Given the description of an element on the screen output the (x, y) to click on. 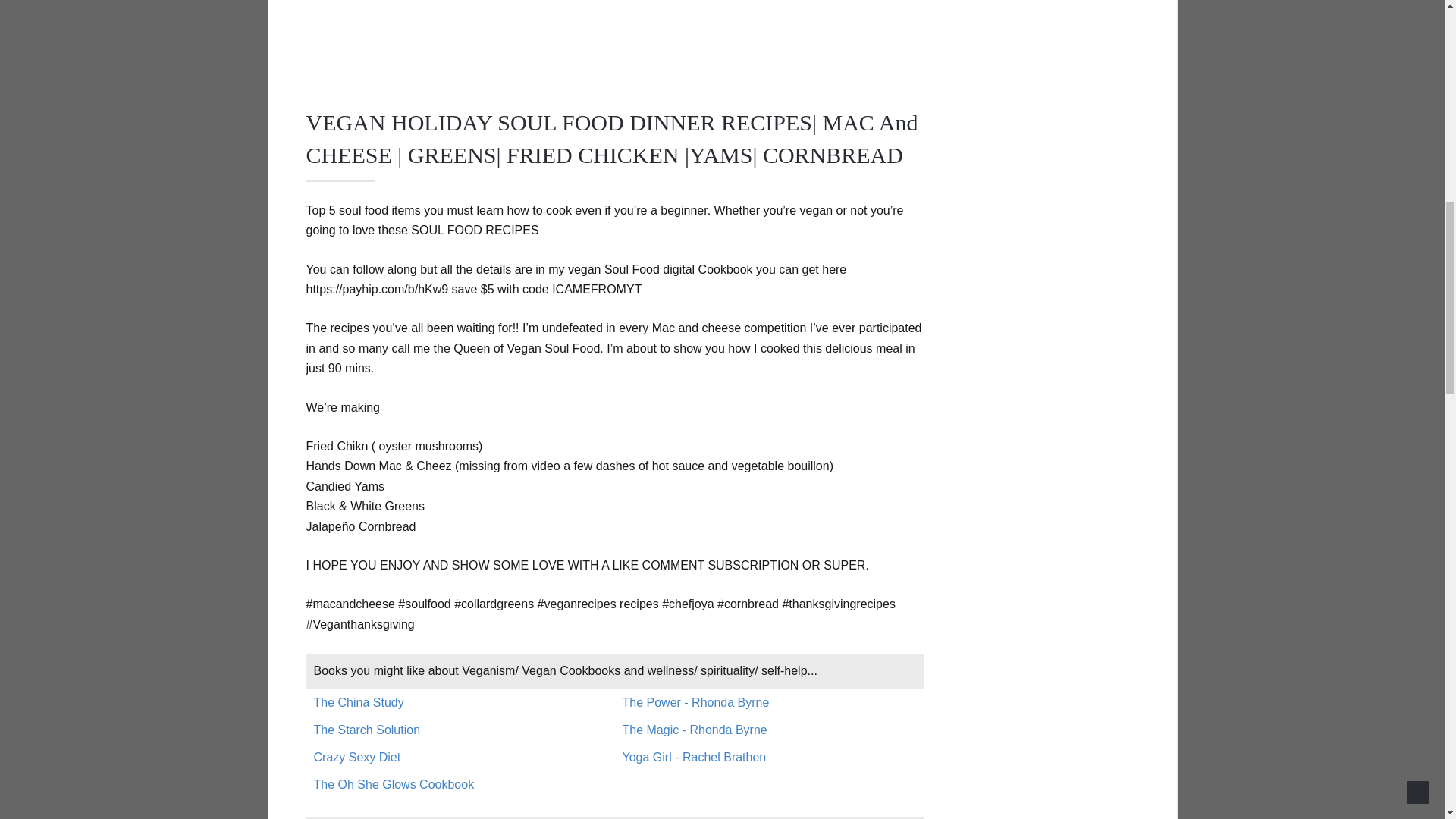
The China Study (359, 702)
The Power - Rhonda Byrne (696, 702)
Yoga Girl - Rachel Brathen (695, 757)
The Magic - Rhonda Byrne (695, 729)
The Oh She Glows Cookbook (394, 784)
Crazy Sexy Diet (357, 757)
The Starch Solution (367, 729)
